Given the description of an element on the screen output the (x, y) to click on. 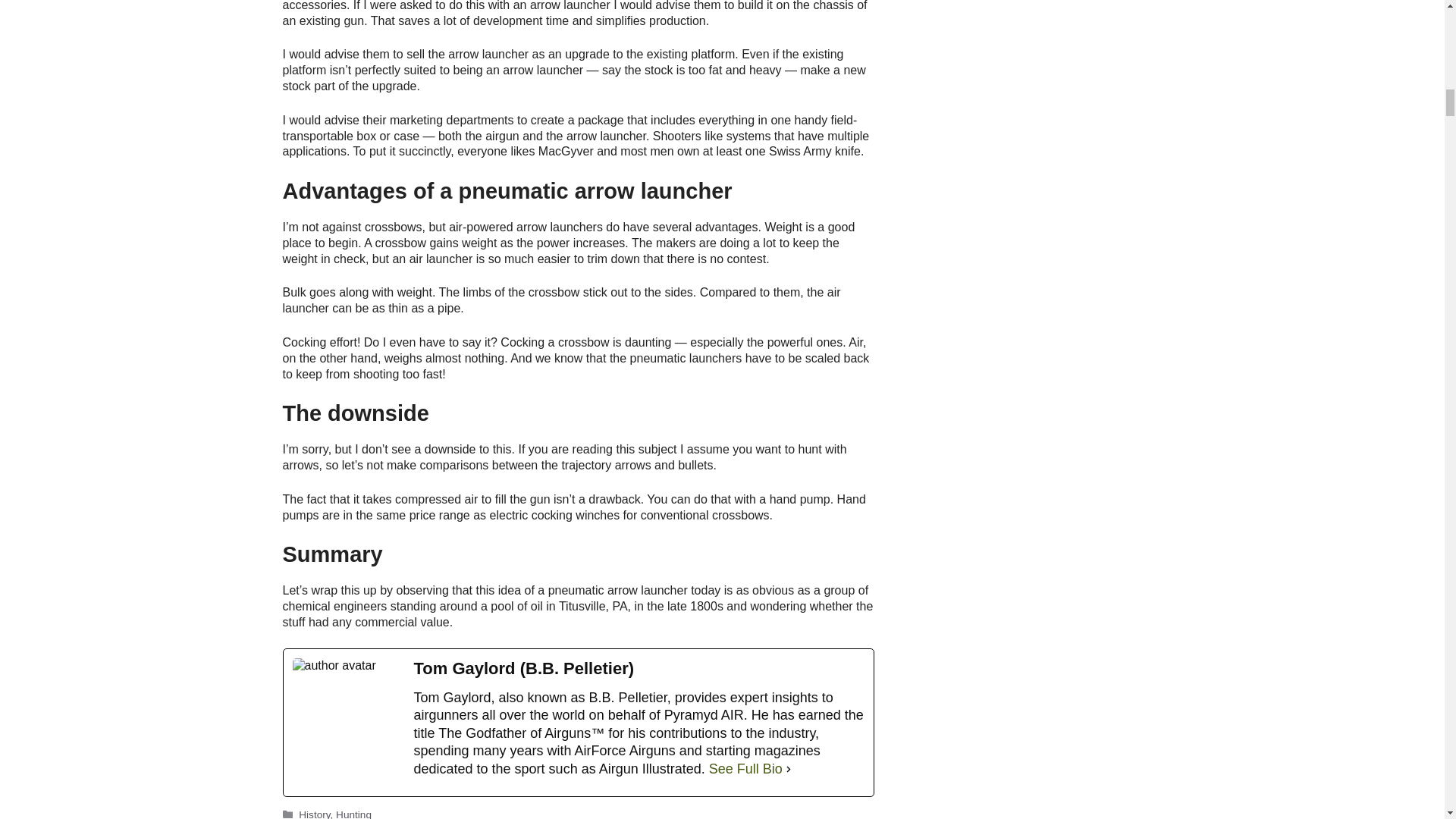
See Full Bio (746, 769)
